Given the description of an element on the screen output the (x, y) to click on. 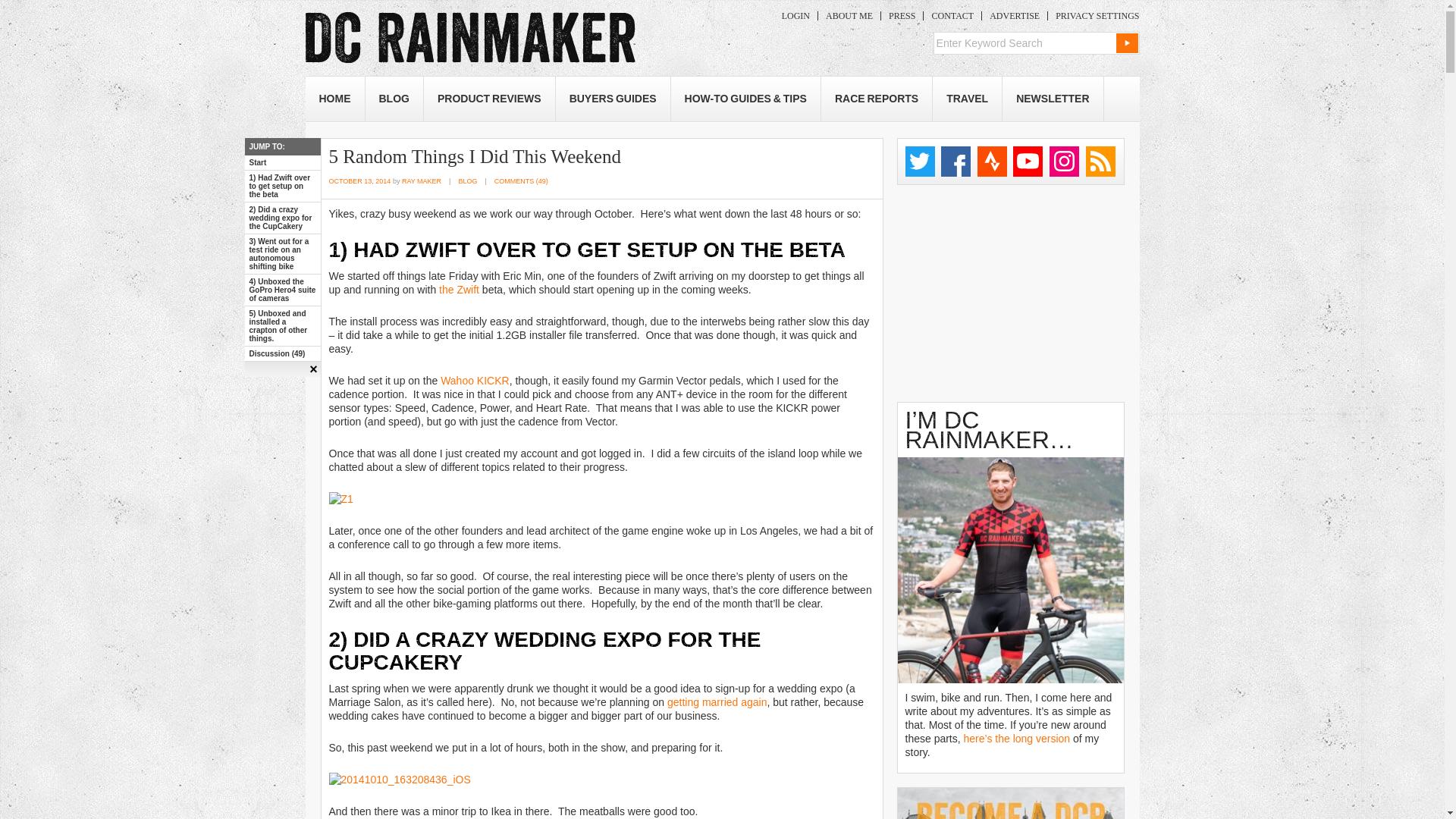
HOME (334, 98)
BUYERS GUIDES (612, 98)
PRIVACY SETTINGS (1093, 15)
PRODUCT REVIEWS (488, 98)
PRESS (901, 15)
ADVERTISE (1013, 15)
Posts by Ray Maker (421, 181)
12:00 am (360, 181)
Search (1127, 43)
Z1 (341, 499)
Enter Keyword Search (1023, 43)
Search (1127, 43)
CONTACT (952, 15)
BLOG (394, 98)
LOGIN (795, 15)
